Given the description of an element on the screen output the (x, y) to click on. 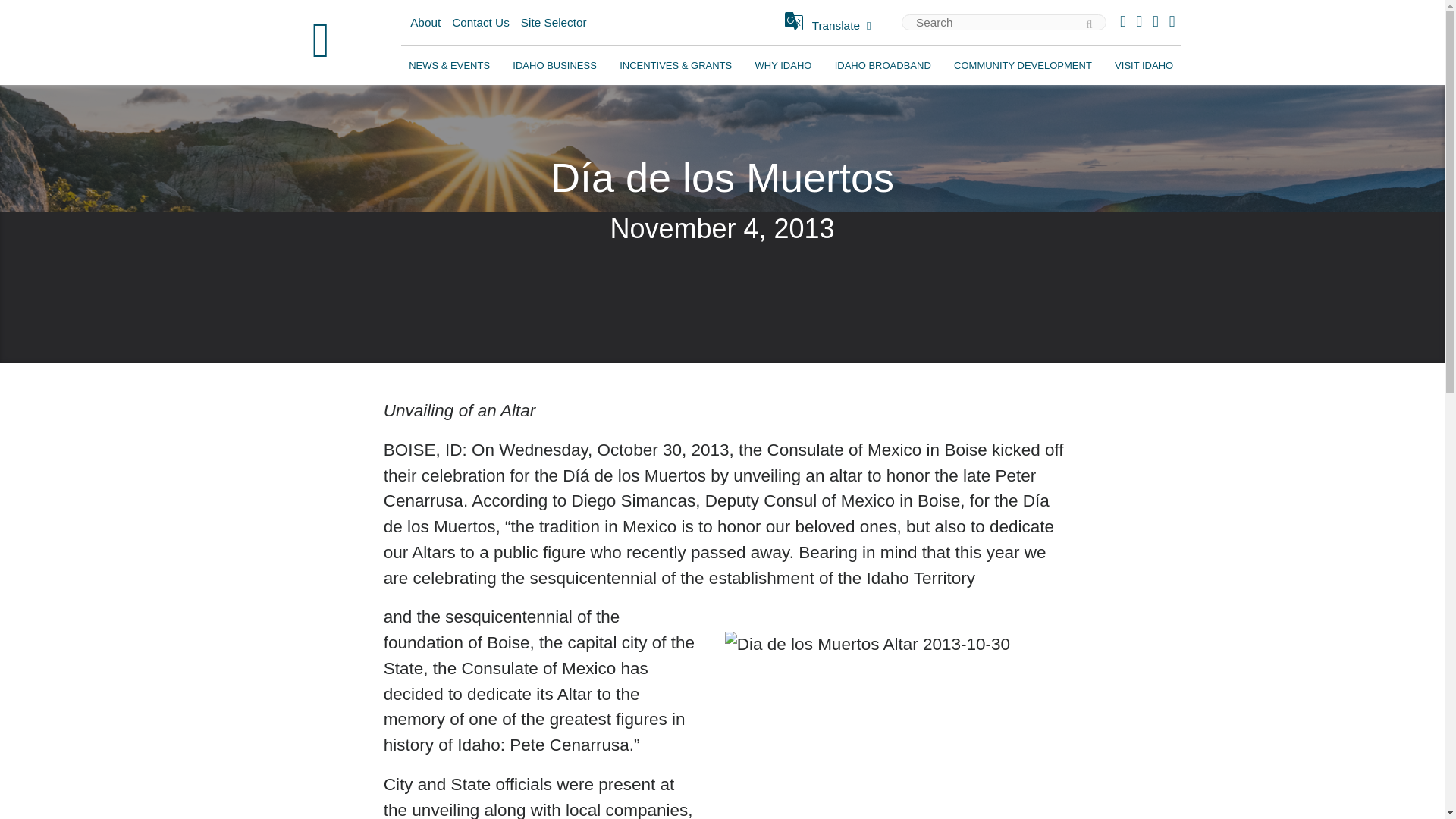
Site Selector (553, 22)
COMMUNITY DEVELOPMENT (1022, 65)
Home (320, 42)
Search (1116, 22)
Home (320, 42)
About (425, 22)
Contact Us (480, 22)
IDAHO BROADBAND (883, 65)
WHY IDAHO (783, 65)
Translate (829, 24)
